Given the description of an element on the screen output the (x, y) to click on. 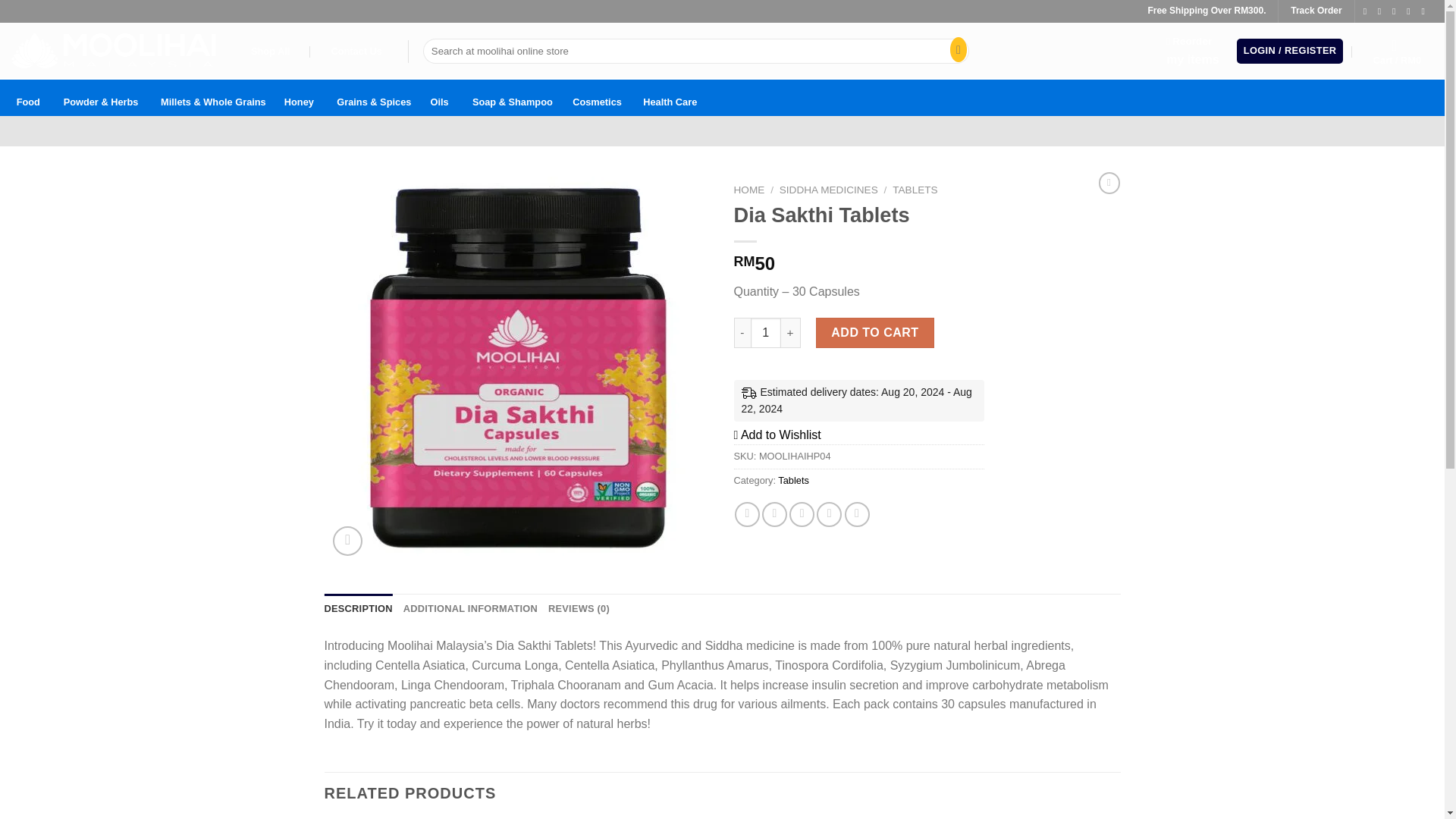
Add to Wishlist (777, 434)
Tablets (793, 480)
Food (28, 97)
Contact Us (356, 51)
1 (765, 332)
Zoom (347, 541)
Cart (1396, 51)
Cosmetics (596, 97)
SIDDHA MEDICINES (827, 189)
Search (955, 51)
